Given the description of an element on the screen output the (x, y) to click on. 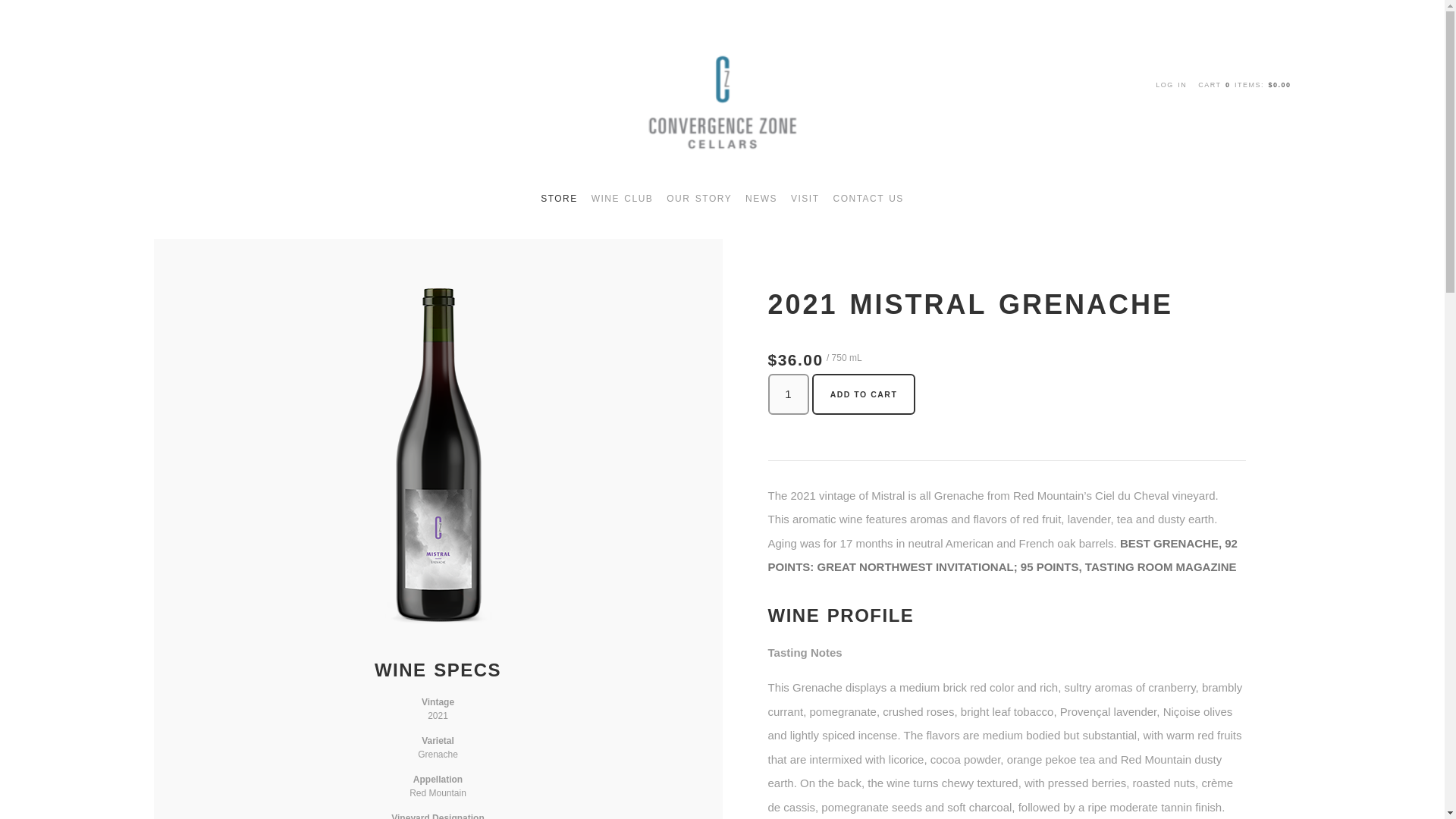
CONTACT US (867, 198)
Convergence Zone Cellars Home (721, 101)
WINE CLUB (622, 198)
VISIT (805, 198)
OUR STORY (699, 198)
1 (787, 393)
STORE (559, 198)
ADD TO CART (863, 393)
NEWS (761, 198)
